Given the description of an element on the screen output the (x, y) to click on. 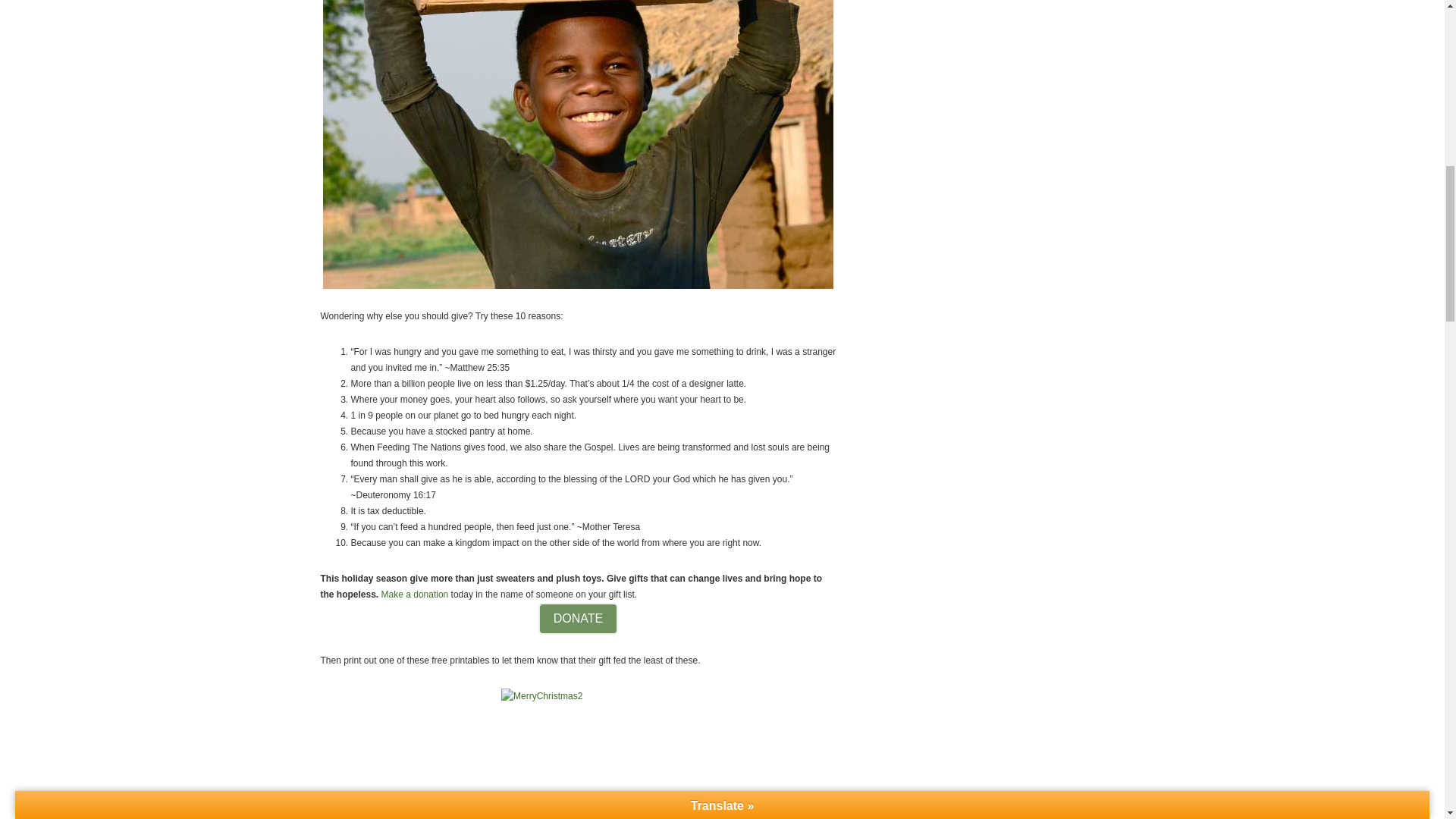
DONATE (577, 617)
Make a donation (414, 593)
DONATE (577, 633)
